Given the description of an element on the screen output the (x, y) to click on. 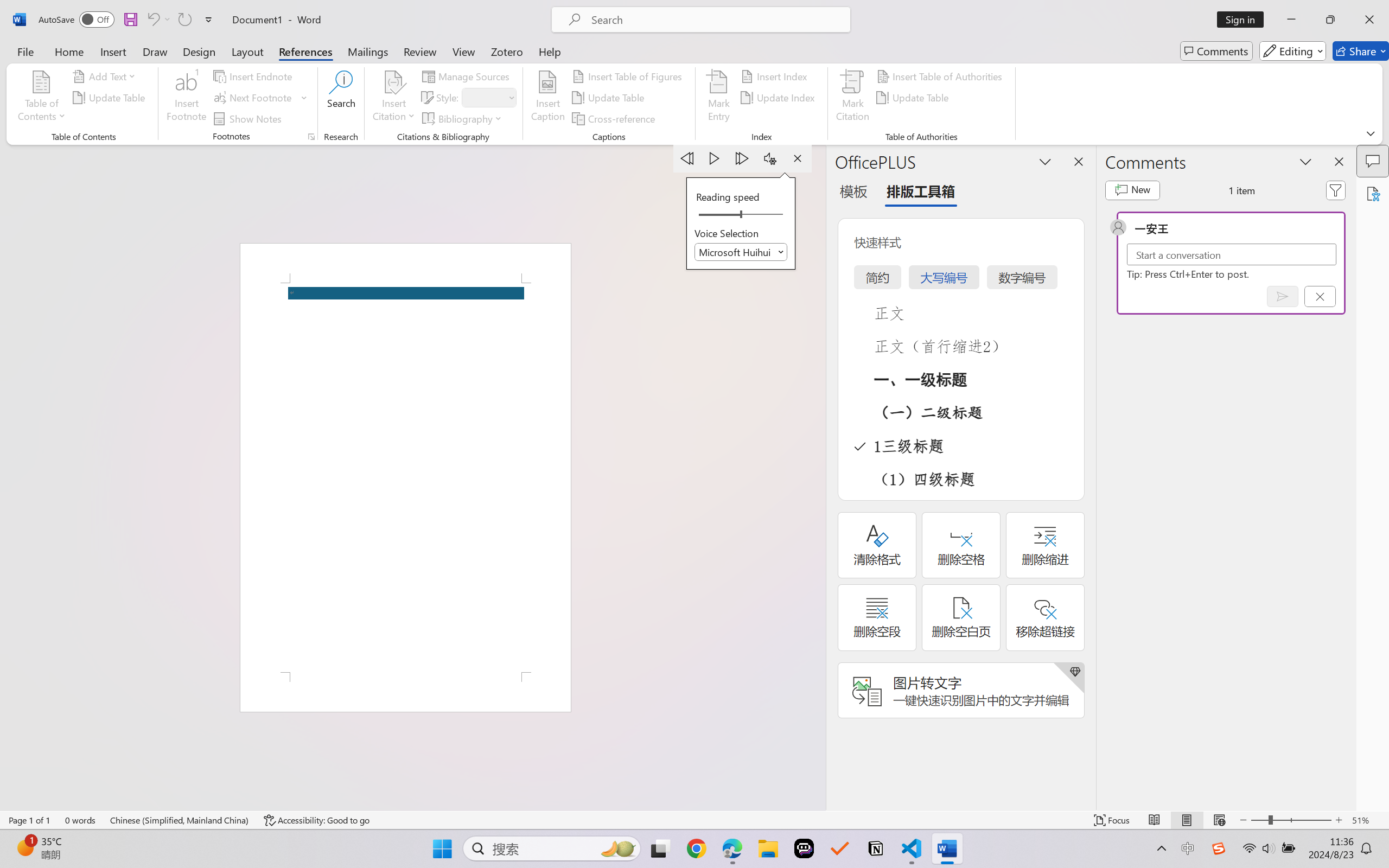
Undo Apply Quick Style Set (158, 19)
Sign in (1244, 19)
Style (488, 97)
Post comment (Ctrl + Enter) (1282, 296)
Page left (716, 214)
Insert Footnote (186, 97)
